Given the description of an element on the screen output the (x, y) to click on. 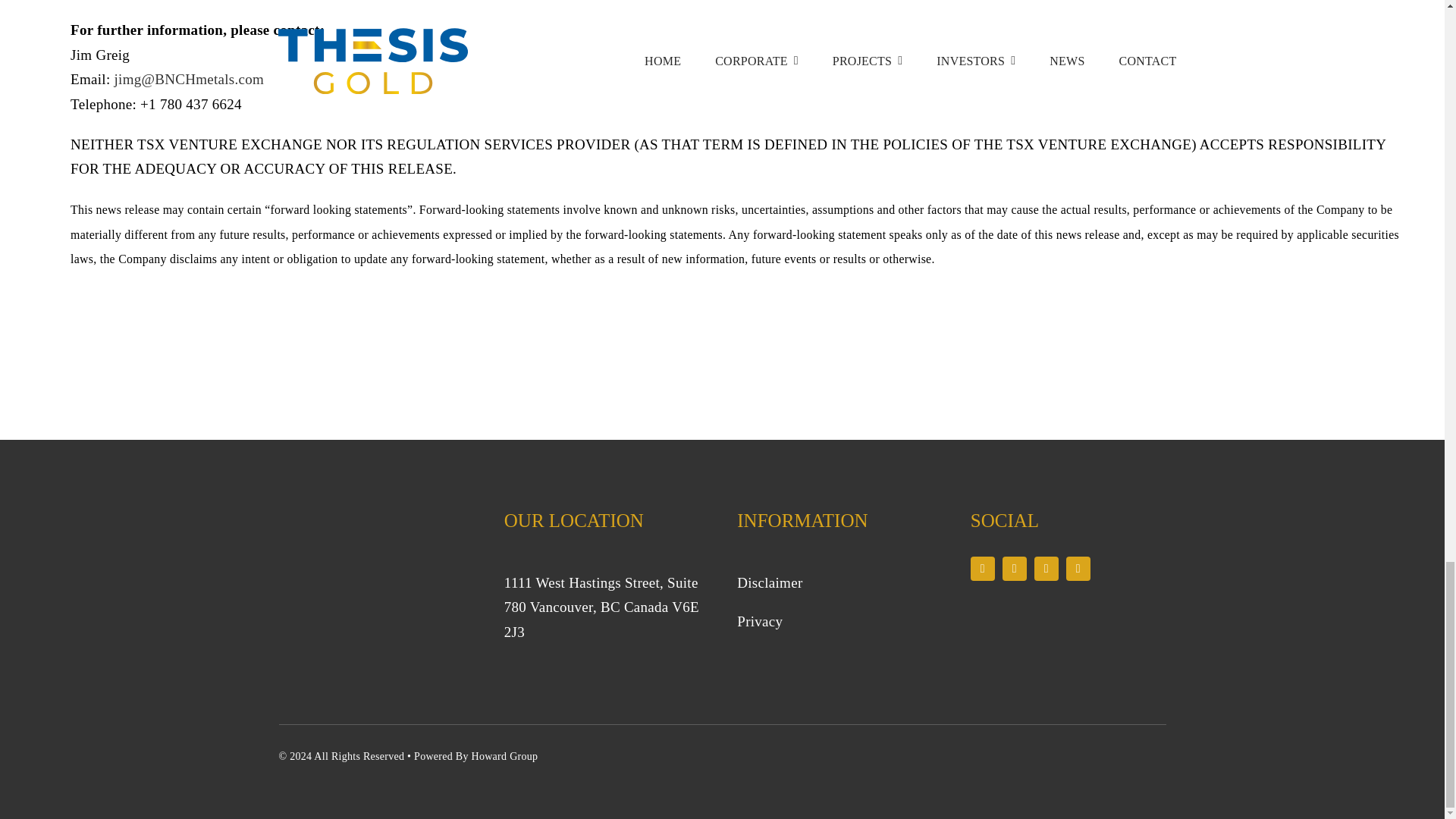
Disclaimer (769, 582)
Page 16 (601, 607)
Page 16 (834, 602)
